Given the description of an element on the screen output the (x, y) to click on. 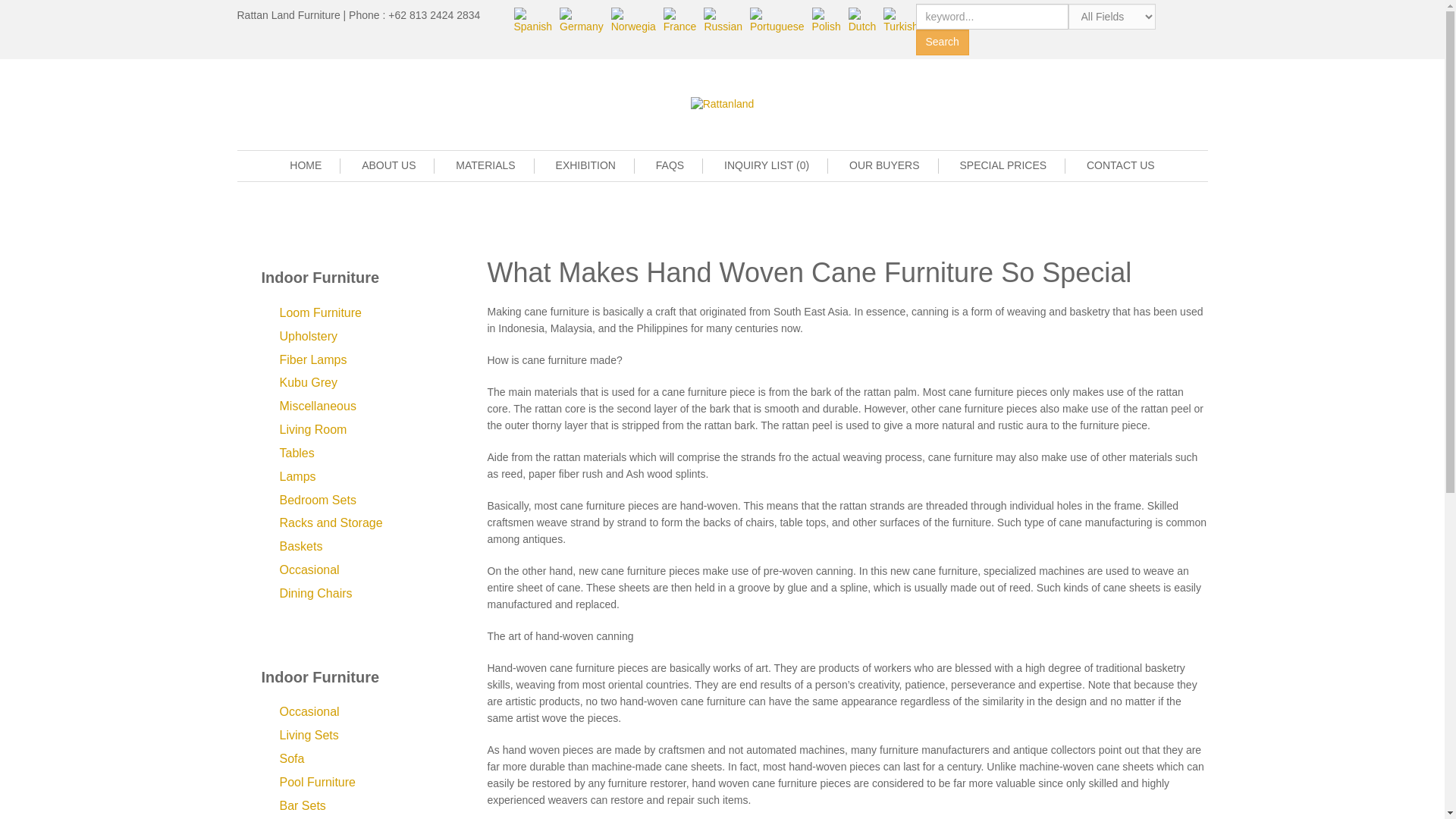
Bedroom Sets (317, 500)
Bar Chairs (307, 818)
Search (942, 42)
Arabic (941, 20)
MATERIALS (494, 165)
Dining Chairs (315, 594)
Germany (581, 20)
France (680, 20)
Racks and Storage (330, 523)
CONTACT US (1120, 165)
